Given the description of an element on the screen output the (x, y) to click on. 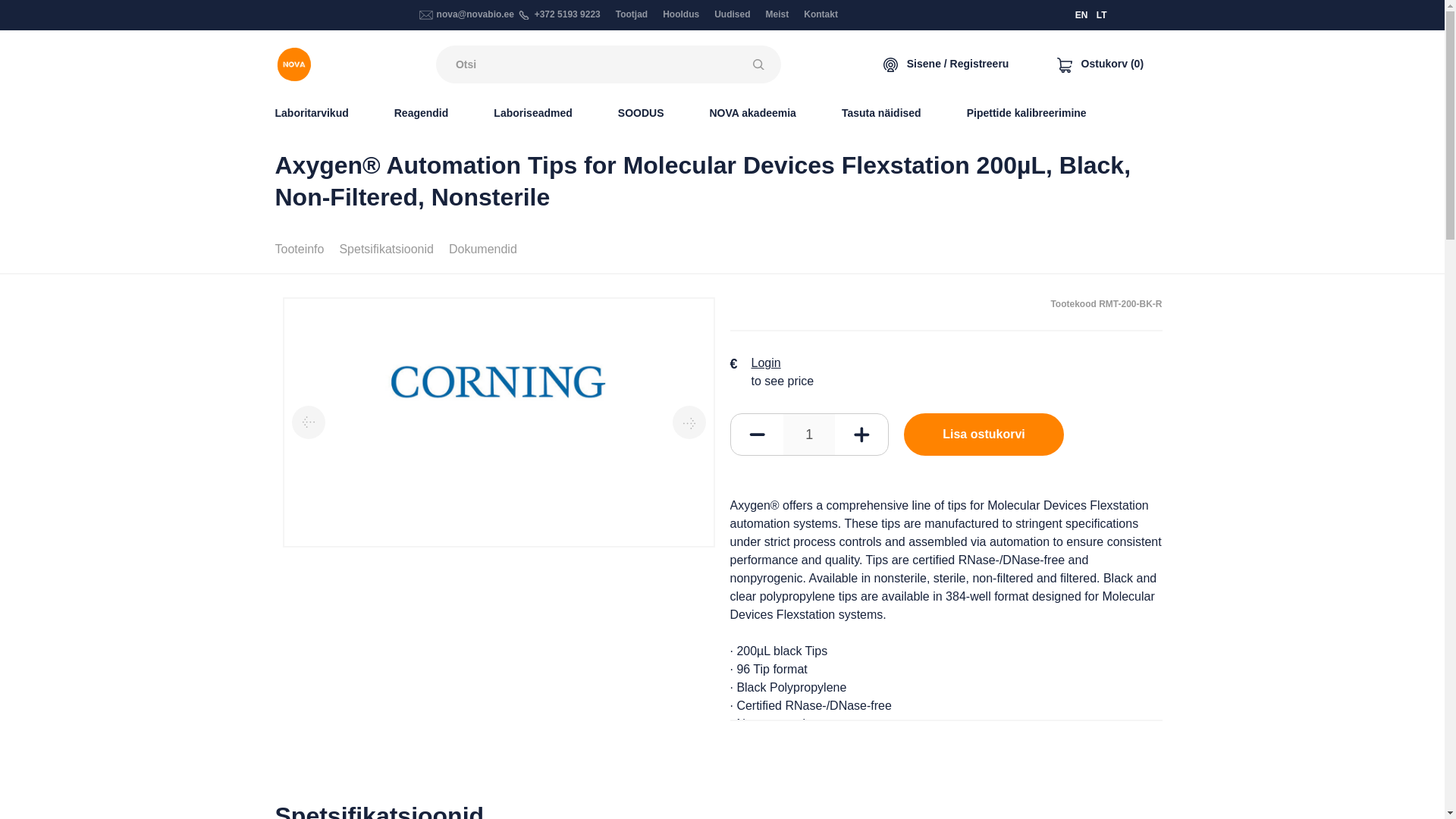
Tootjad (631, 14)
Kontakt (820, 14)
Laboritarvikud (311, 112)
1 (808, 434)
Meist (777, 14)
Reagendid (421, 112)
Hooldus (680, 14)
Uudised (731, 14)
Otsi (761, 64)
EN (1081, 14)
